Given the description of an element on the screen output the (x, y) to click on. 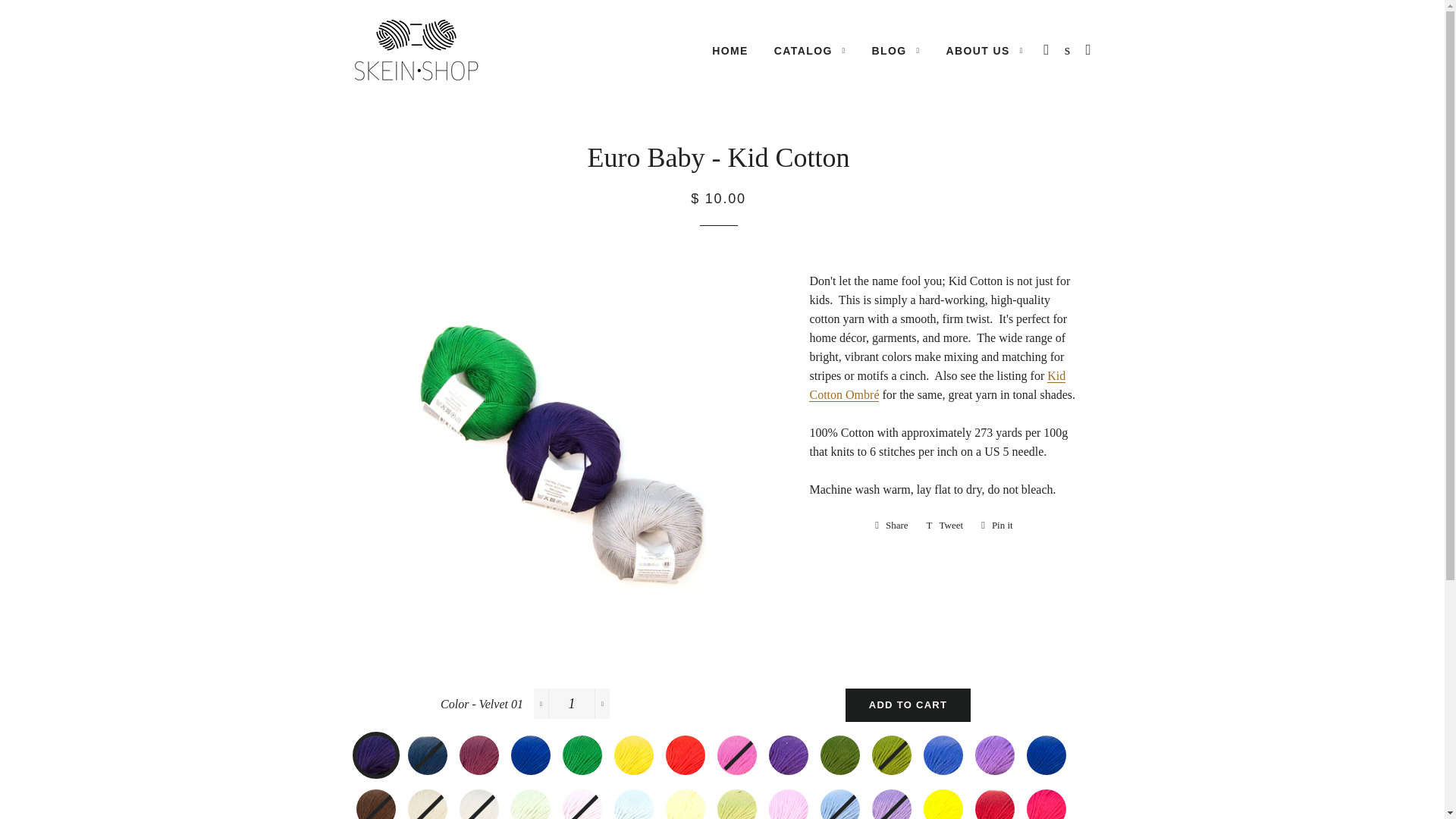
Share on Facebook (891, 525)
HOME (730, 51)
BLOG (895, 51)
Tweet on Twitter (944, 525)
Pin on Pinterest (997, 525)
